Given the description of an element on the screen output the (x, y) to click on. 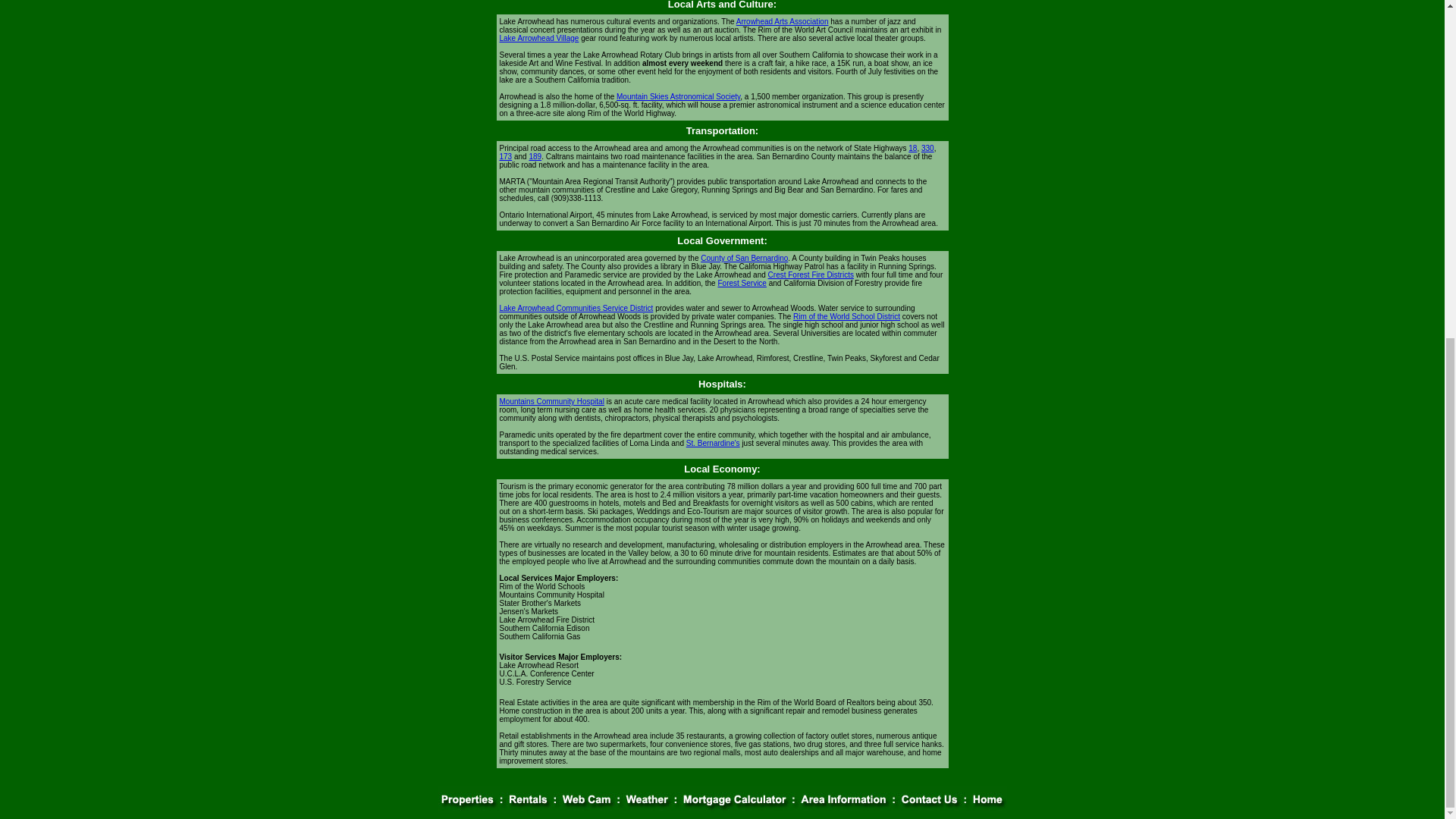
Lake Arrowhead Village (538, 38)
Mountains Community Hospital (551, 401)
Rim of the World School District (846, 316)
Forest Service (741, 283)
Lake Arrowhead Communities Service District (575, 307)
St. Bernardine's (712, 442)
330 (927, 148)
18 (912, 148)
189 (534, 156)
Arrowhead Arts Association (782, 21)
173 (505, 156)
Crest Forest Fire Districts (810, 275)
Mountain Skies Astronomical Society (677, 96)
County of San Bernardino (743, 257)
